Given the description of an element on the screen output the (x, y) to click on. 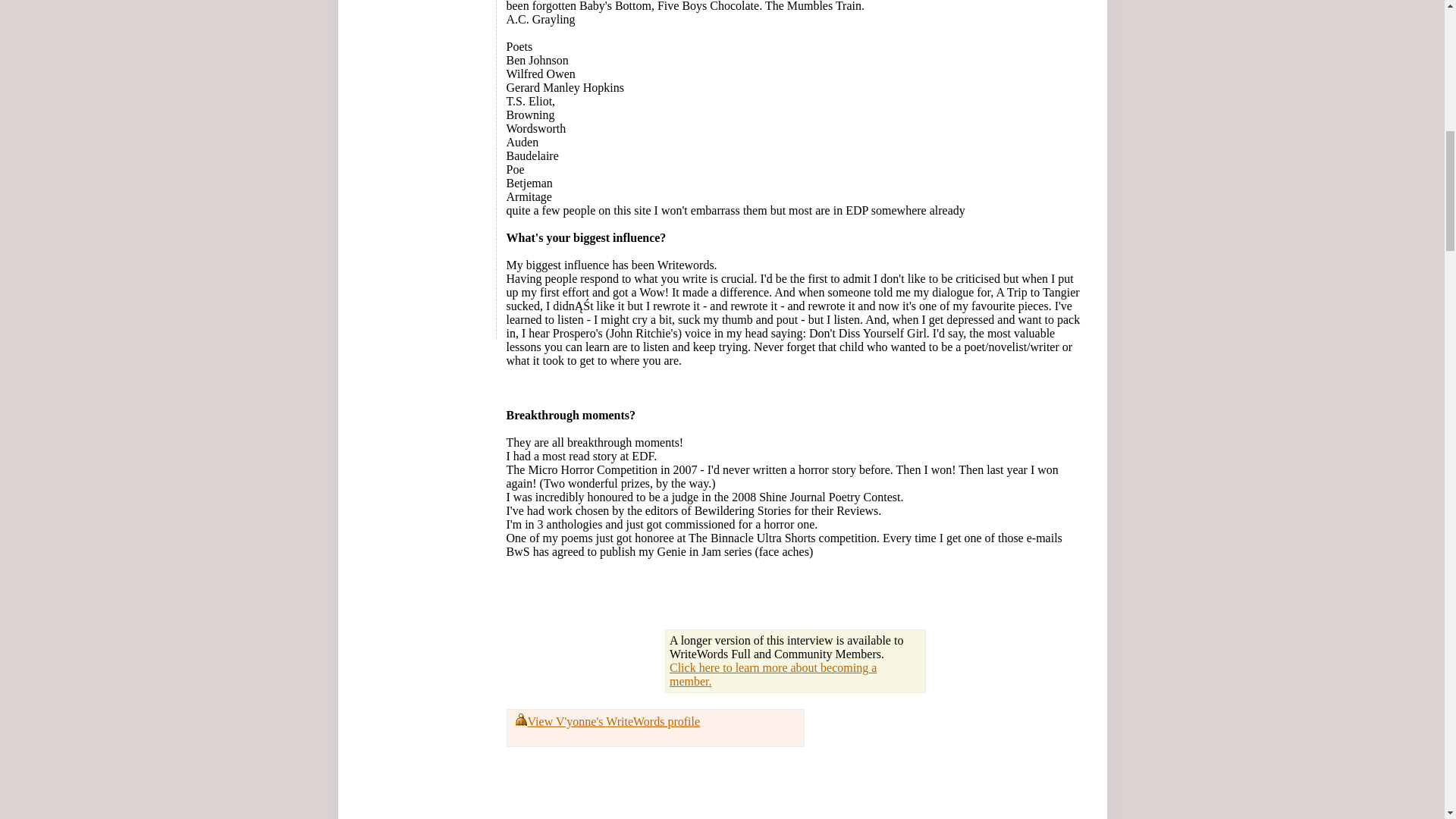
View V'yonne's WriteWords profile (613, 721)
Click here to learn more about becoming a member. (772, 673)
